Given the description of an element on the screen output the (x, y) to click on. 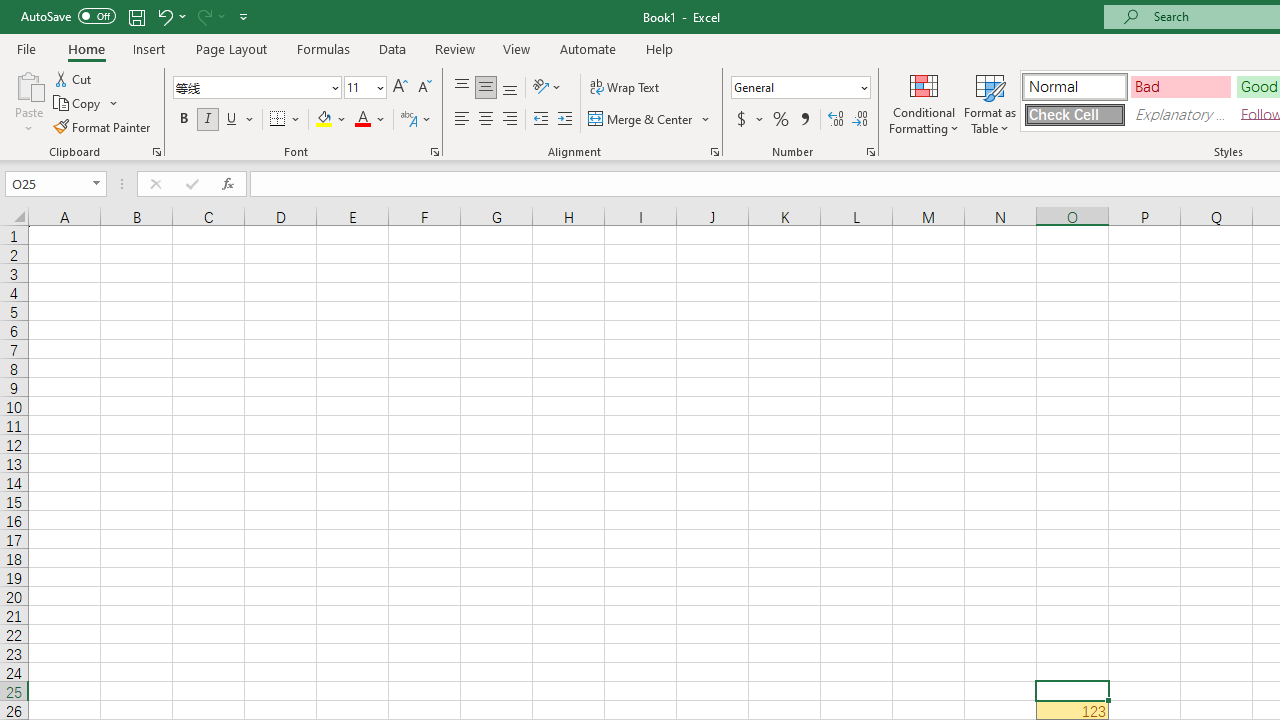
Cut (73, 78)
Show Phonetic Field (408, 119)
Italic (207, 119)
